Given the description of an element on the screen output the (x, y) to click on. 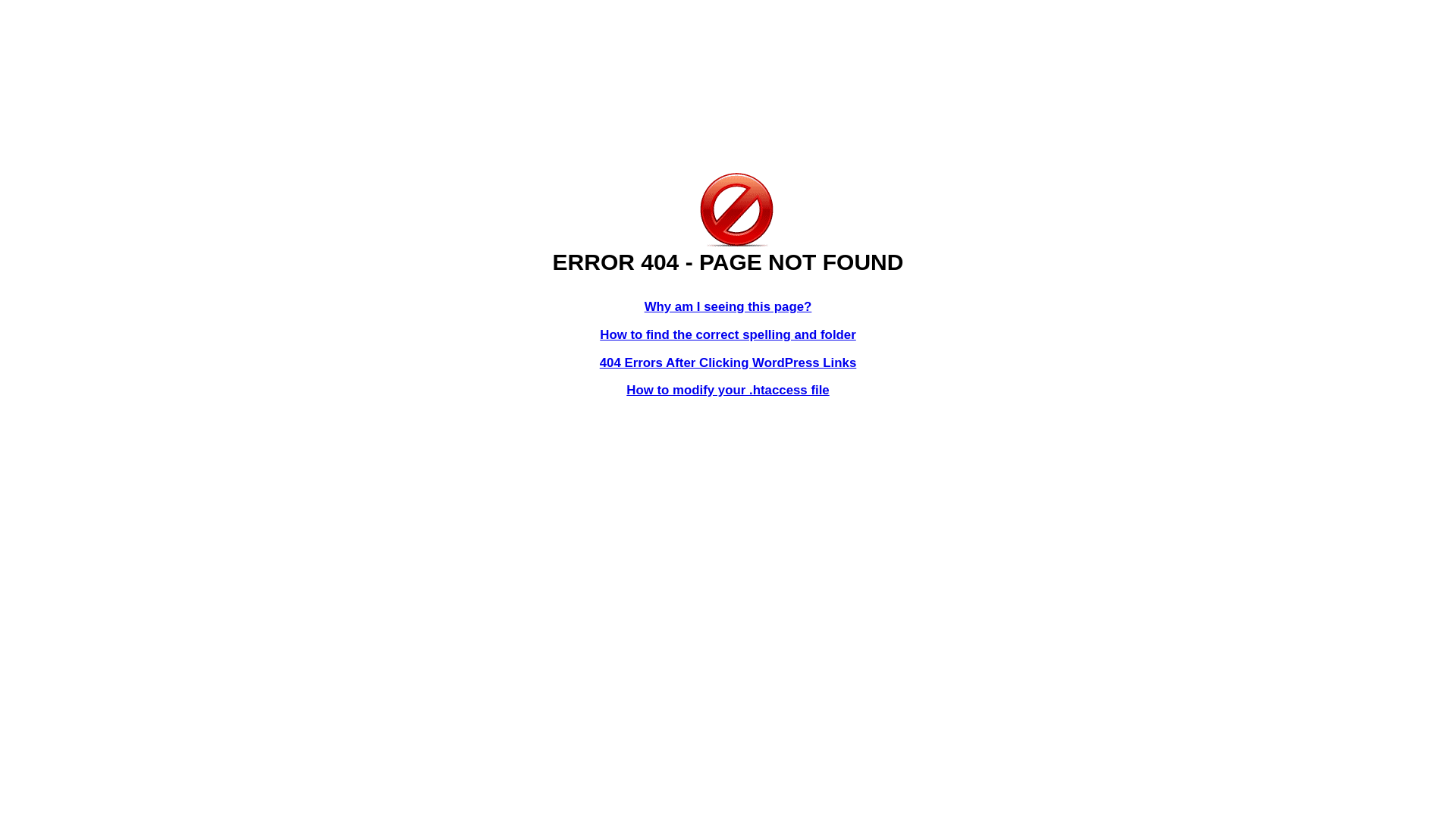
Why am I seeing this page? Element type: text (728, 306)
404 Errors After Clicking WordPress Links Element type: text (727, 362)
How to modify your .htaccess file Element type: text (727, 389)
How to find the correct spelling and folder Element type: text (727, 334)
